Given the description of an element on the screen output the (x, y) to click on. 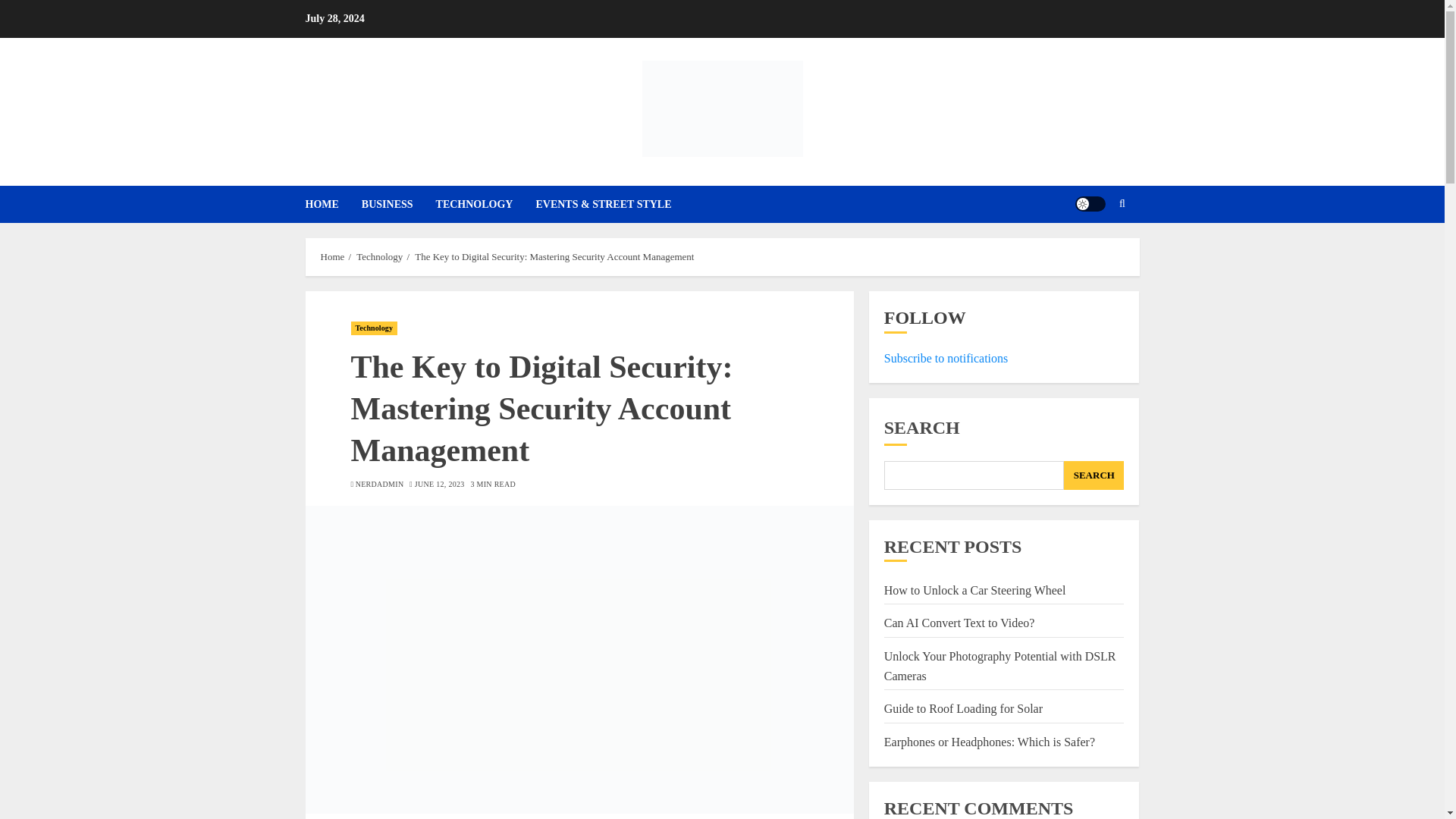
Home (331, 256)
Subscribe to notifications (946, 358)
SEARCH (1094, 475)
How to Unlock a Car Steering Wheel (974, 590)
Unlock Your Photography Potential with DSLR Cameras (999, 666)
Guide to Roof Loading for Solar (962, 708)
TECHNOLOGY (485, 203)
JUNE 12, 2023 (439, 484)
Search (1122, 203)
Technology (373, 327)
Can AI Convert Text to Video? (959, 622)
Search (1092, 249)
BUSINESS (398, 203)
HOME (332, 203)
